Given the description of an element on the screen output the (x, y) to click on. 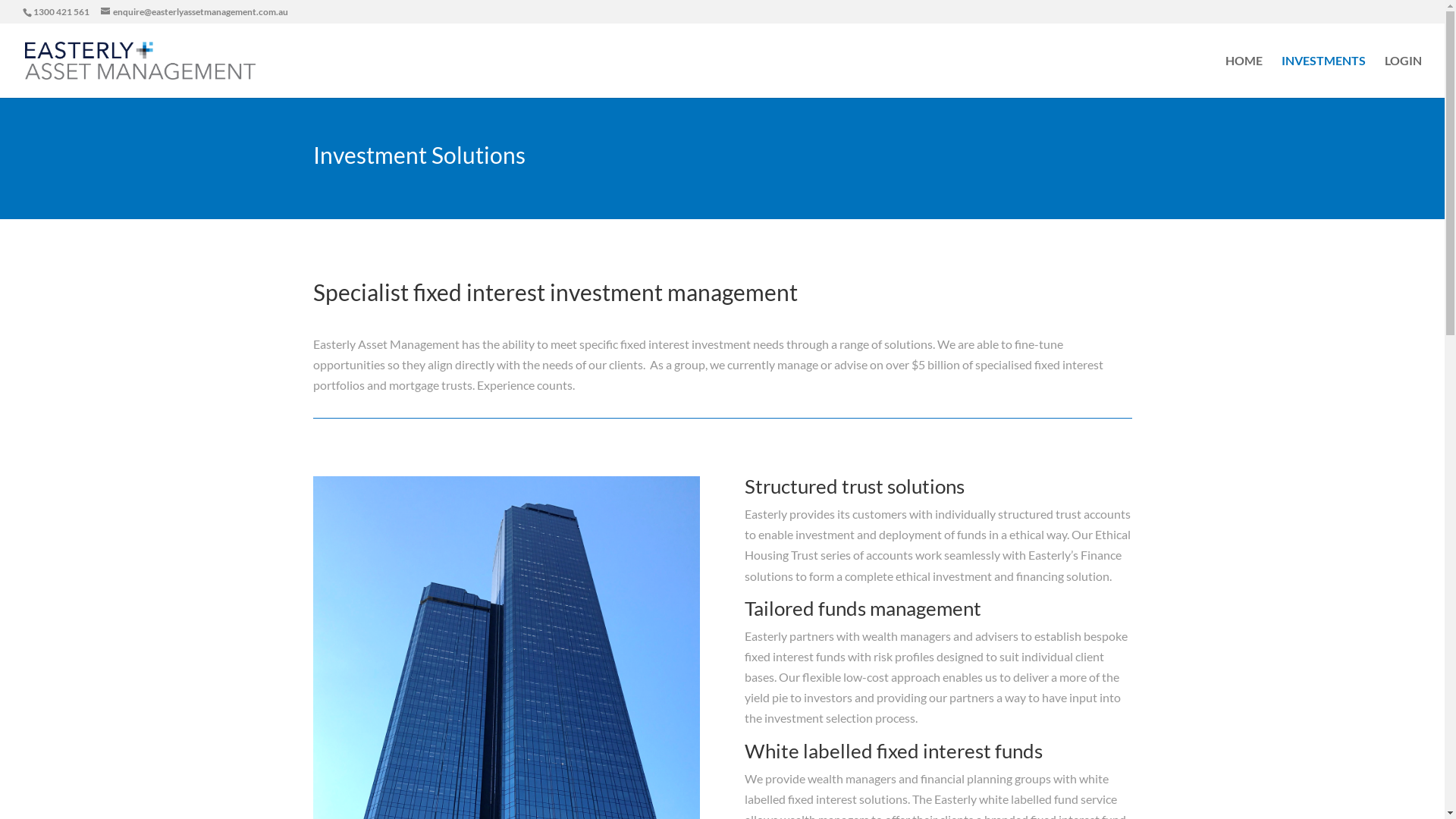
LOGIN Element type: text (1402, 76)
INVESTMENTS Element type: text (1323, 76)
HOME Element type: text (1243, 76)
enquire@easterlyassetmanagement.com.au Element type: text (194, 11)
